Given the description of an element on the screen output the (x, y) to click on. 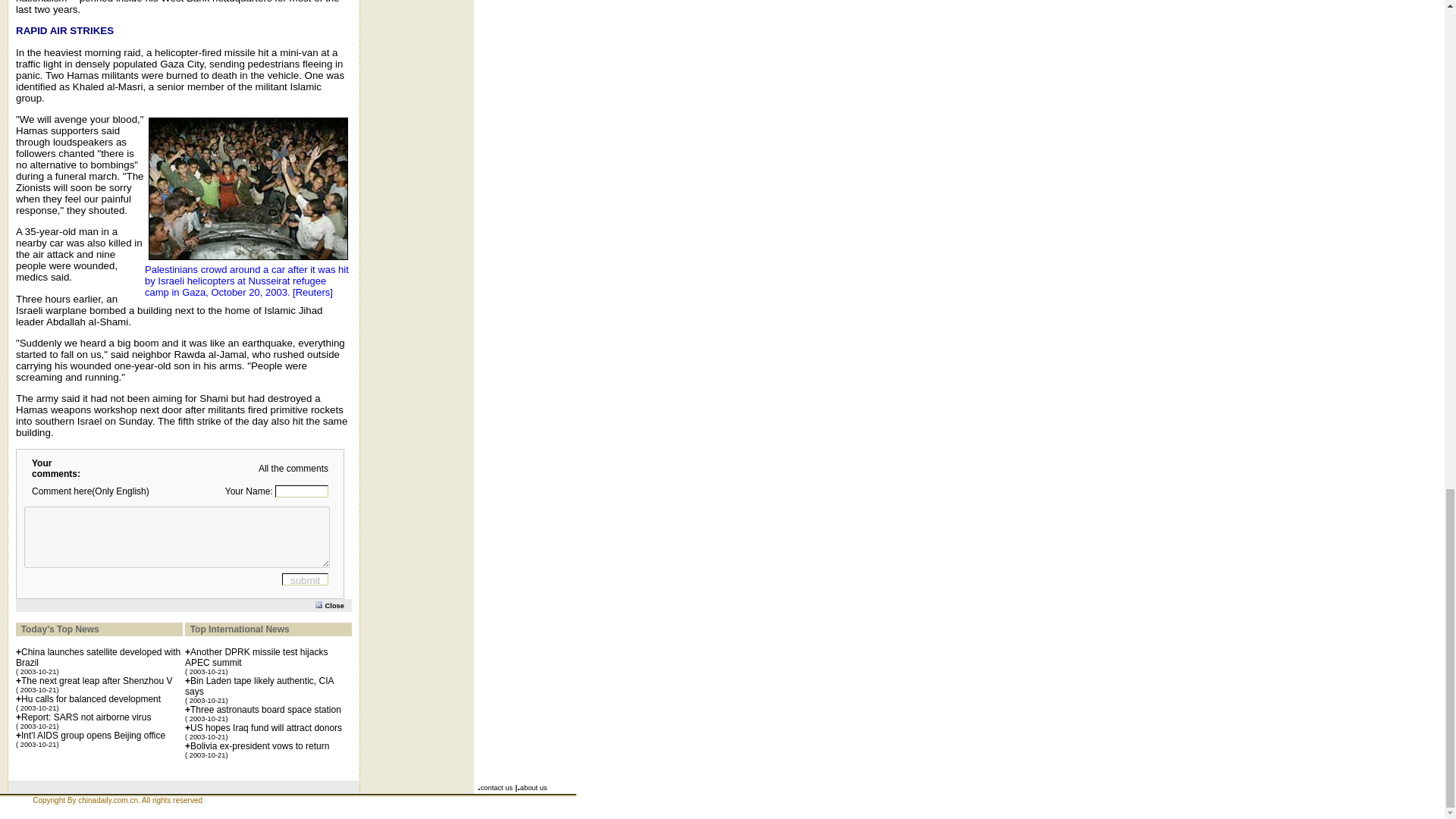
Bin Laden tape likely authentic, CIA says (258, 685)
Three astronauts board space station (265, 709)
Another DPRK missile test hijacks APEC summit (255, 657)
 submit  (305, 579)
China launches satellite developed with Brazil (98, 657)
US hopes Iraq fund will attract donors (266, 727)
Close (333, 604)
Int'l AIDS group opens Beijing office (93, 735)
Bolivia ex-president vows to return (259, 746)
All the comments (294, 468)
Report: SARS not airborne virus (86, 716)
 submit  (305, 579)
Hu calls for balanced development (90, 698)
The next great leap after Shenzhou V (96, 680)
